Given the description of an element on the screen output the (x, y) to click on. 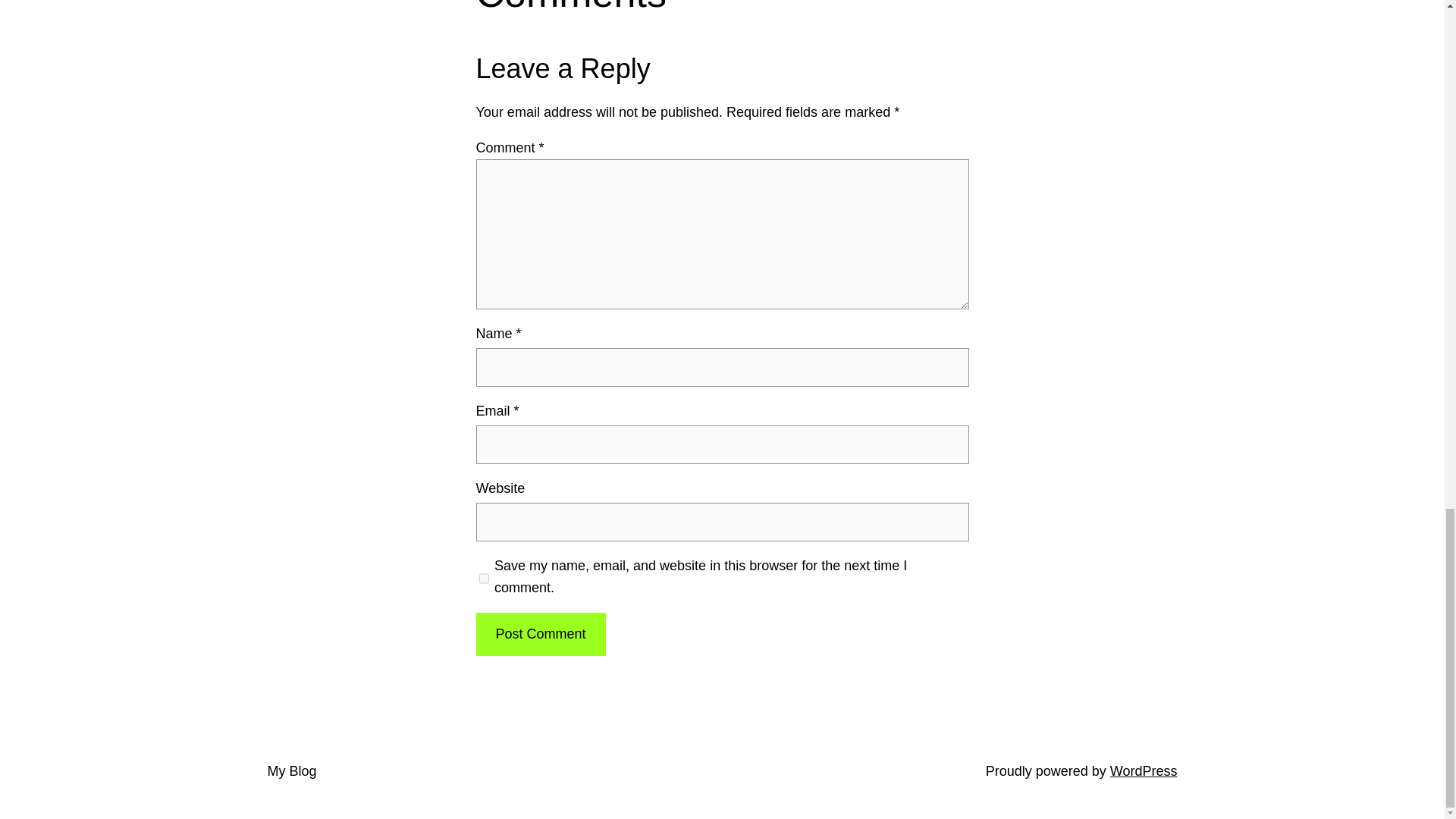
My Blog (290, 770)
Post Comment (540, 634)
WordPress (1143, 770)
Post Comment (540, 634)
